Given the description of an element on the screen output the (x, y) to click on. 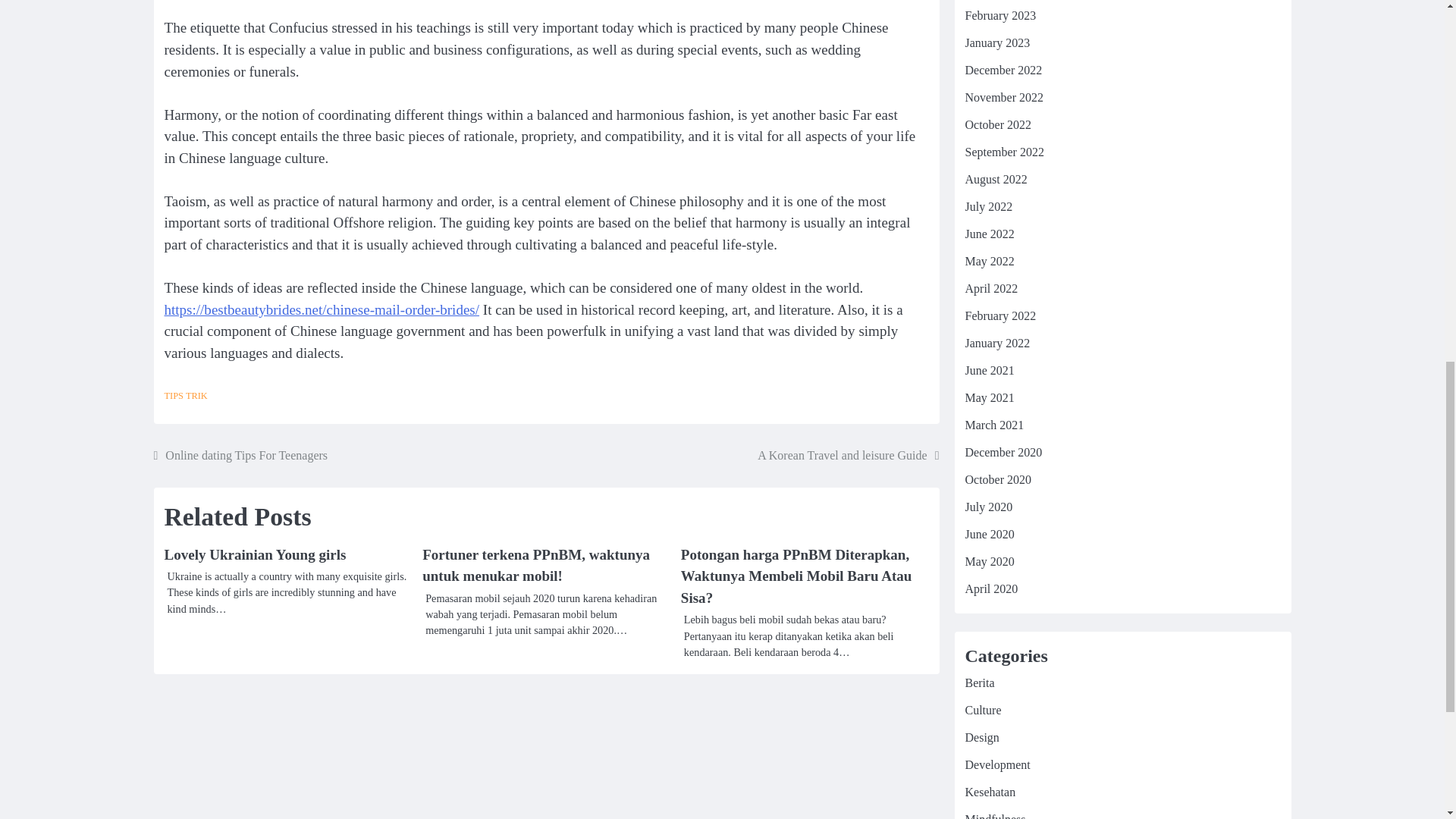
Fortuner terkena PPnBM, waktunya untuk menukar mobil! (535, 565)
January 2023 (996, 42)
December 2022 (1002, 69)
February 2023 (999, 15)
TIPS TRIK (184, 395)
A Korean Travel and leisure Guide (848, 455)
Online dating Tips For Teenagers (239, 455)
Lovely Ukrainian Young girls (254, 554)
